Given the description of an element on the screen output the (x, y) to click on. 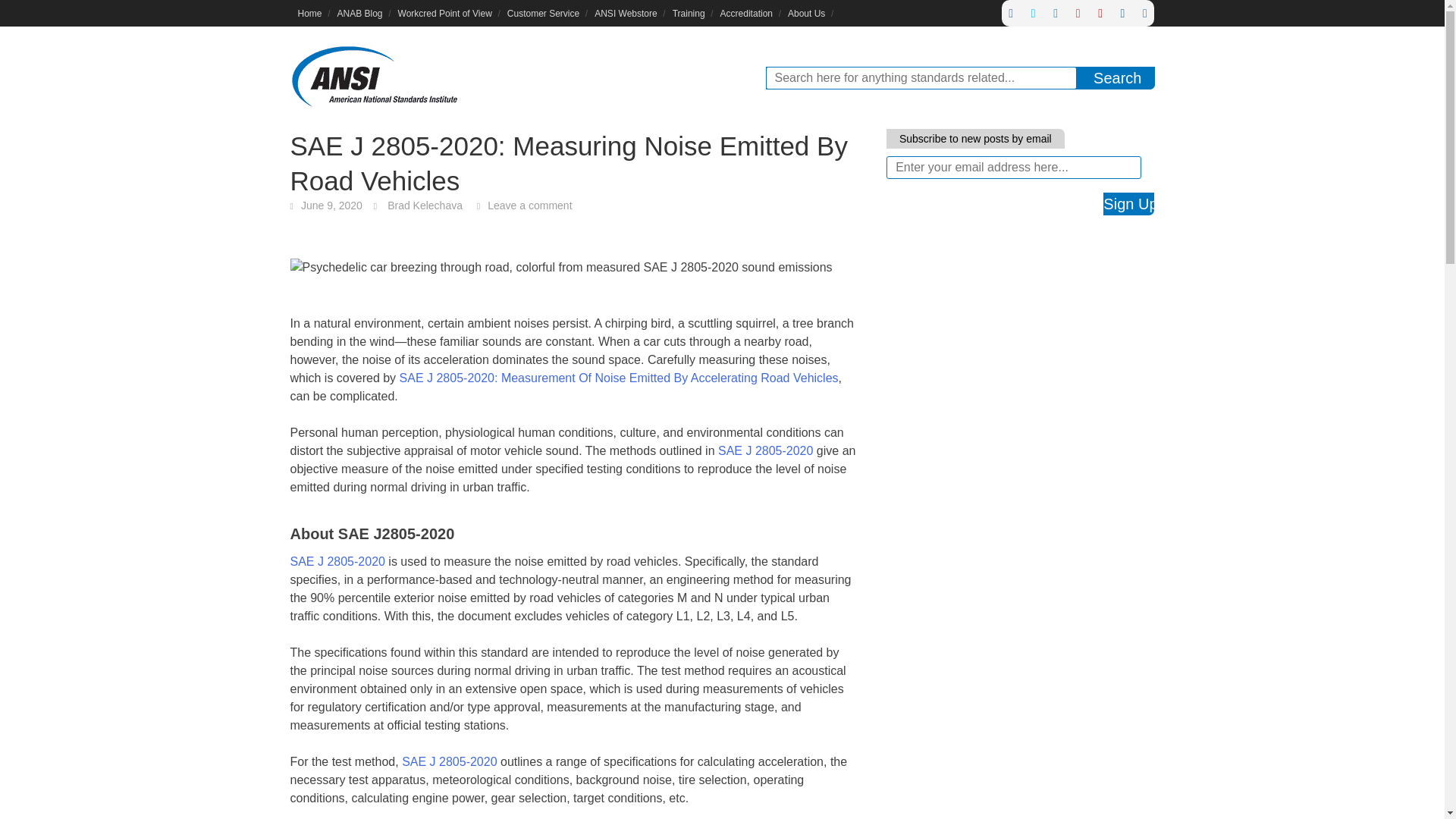
June 9, 2020 (331, 205)
Training (689, 13)
Home (309, 13)
SAE J 2805-2020 (764, 450)
Search (1117, 77)
Customer Service (542, 13)
Brad Kelechava (425, 205)
About Us (806, 13)
Leave a comment (529, 205)
